Given the description of an element on the screen output the (x, y) to click on. 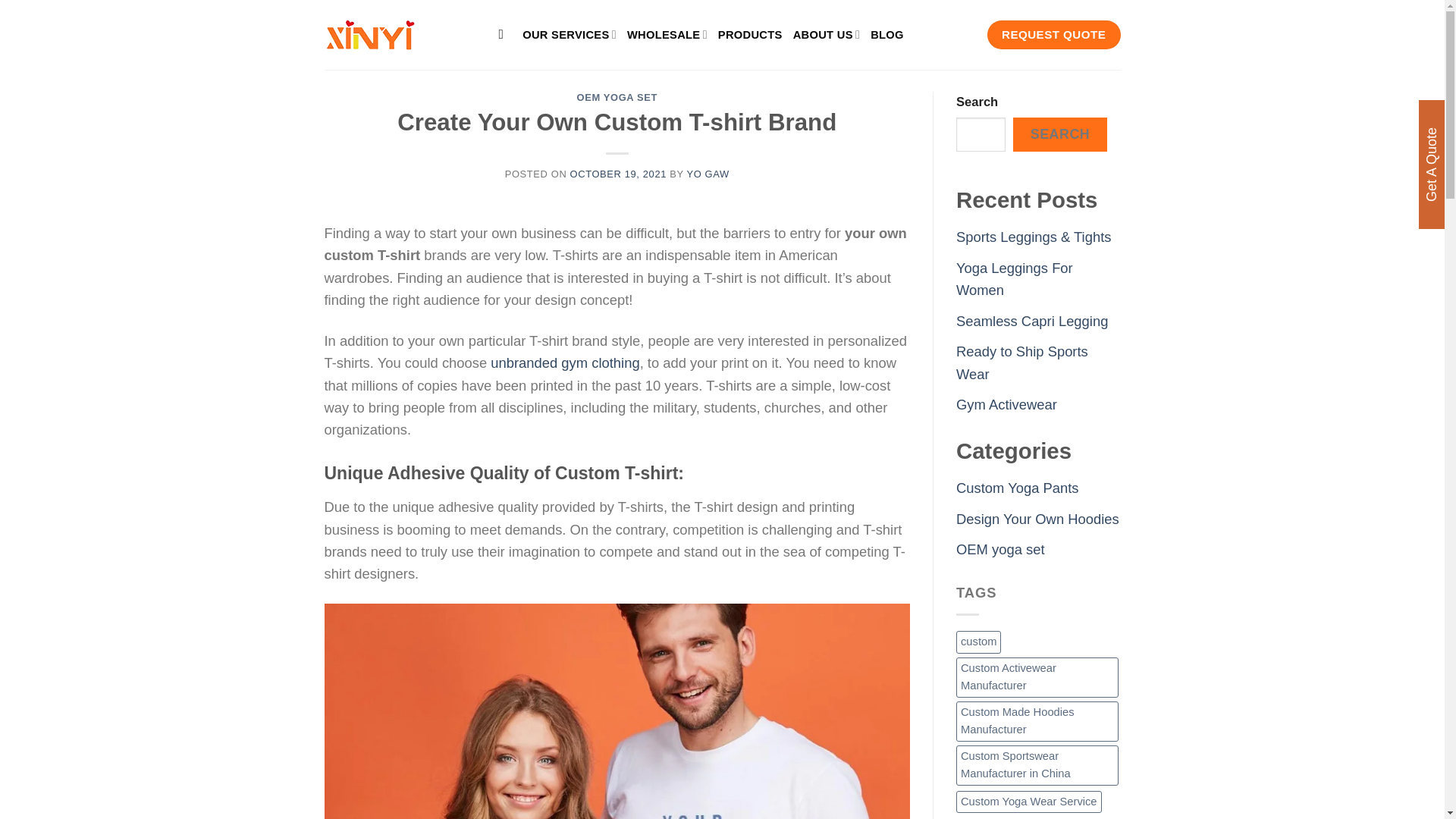
BLOG (887, 34)
REQUEST QUOTE (1054, 34)
ABOUT US (826, 34)
SEARCH (1059, 134)
WHOLESALE (667, 34)
YO GAW (707, 173)
PRODUCTS (750, 34)
unbranded gym clothing (564, 362)
OEM YOGA SET (617, 97)
Yoga Leggings For Women (1014, 279)
OCTOBER 19, 2021 (618, 173)
OUR SERVICES (568, 34)
OemYogaWear - yoga clothing manufacturer (400, 34)
